Given the description of an element on the screen output the (x, y) to click on. 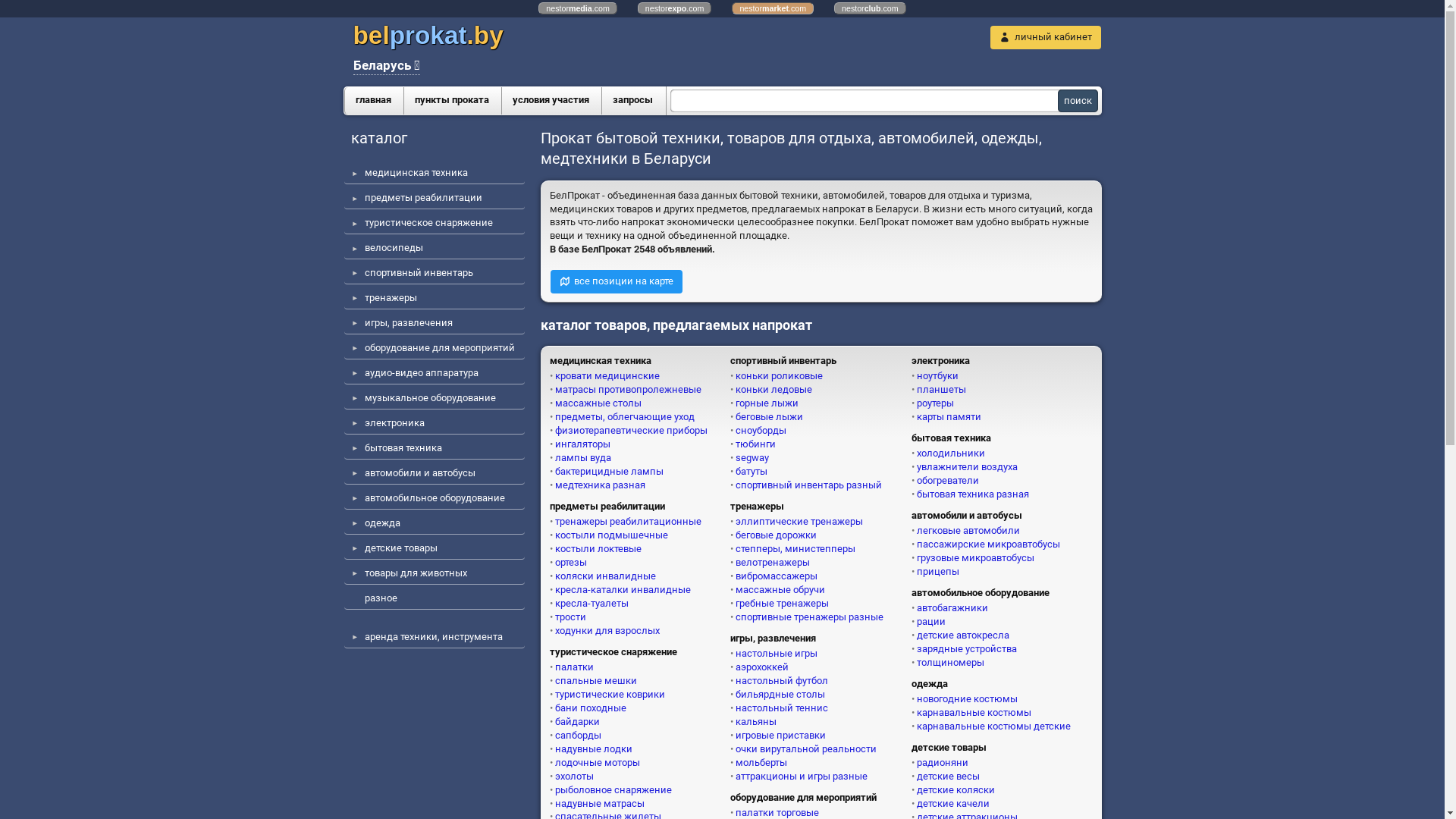
belprokat.by Element type: text (428, 35)
nestormedia.com Element type: text (577, 8)
segway Element type: text (749, 457)
nestorexpo.com Element type: text (674, 8)
nestormarket.com Element type: text (772, 8)
nestorclub.com Element type: text (870, 8)
